Given the description of an element on the screen output the (x, y) to click on. 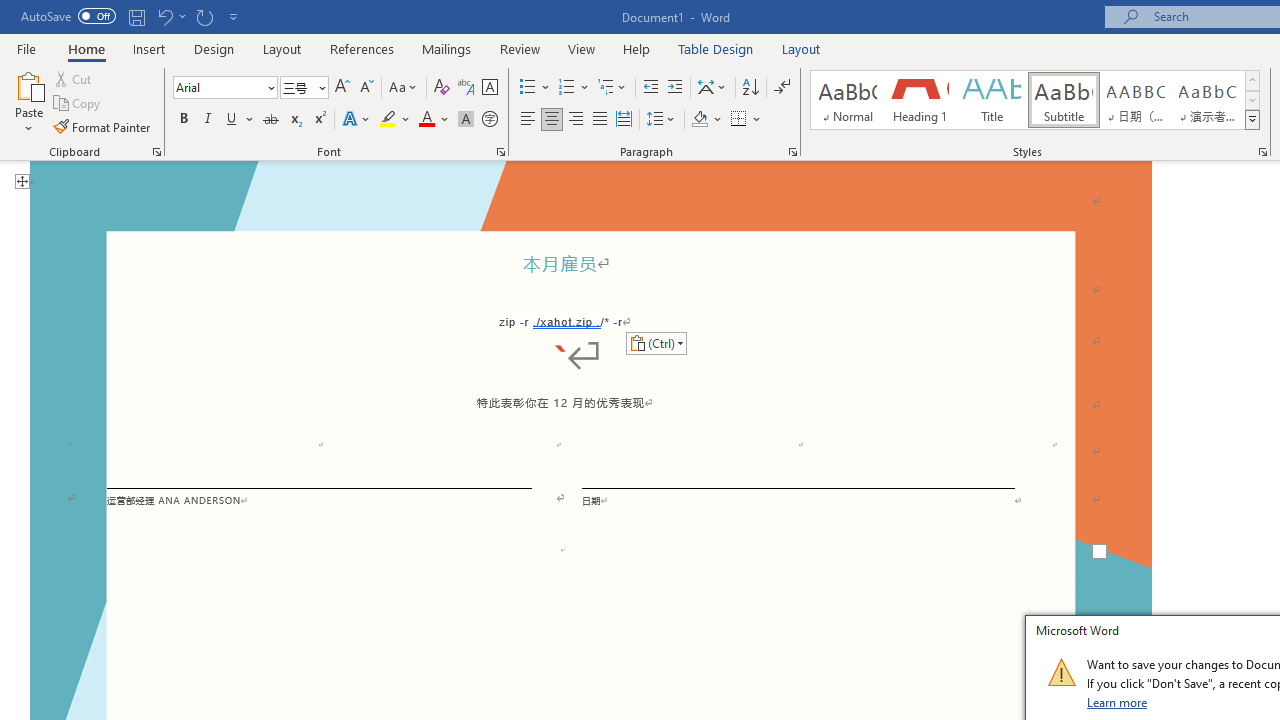
Font Color Red (426, 119)
Paragraph... (792, 151)
Mailings (447, 48)
Superscript (319, 119)
Center (552, 119)
Change Case (404, 87)
Paste (28, 102)
Design (214, 48)
Font... (500, 151)
Styles... (1262, 151)
Undo Paste (170, 15)
Cut (73, 78)
Row Down (1252, 100)
Numbering (573, 87)
